Given the description of an element on the screen output the (x, y) to click on. 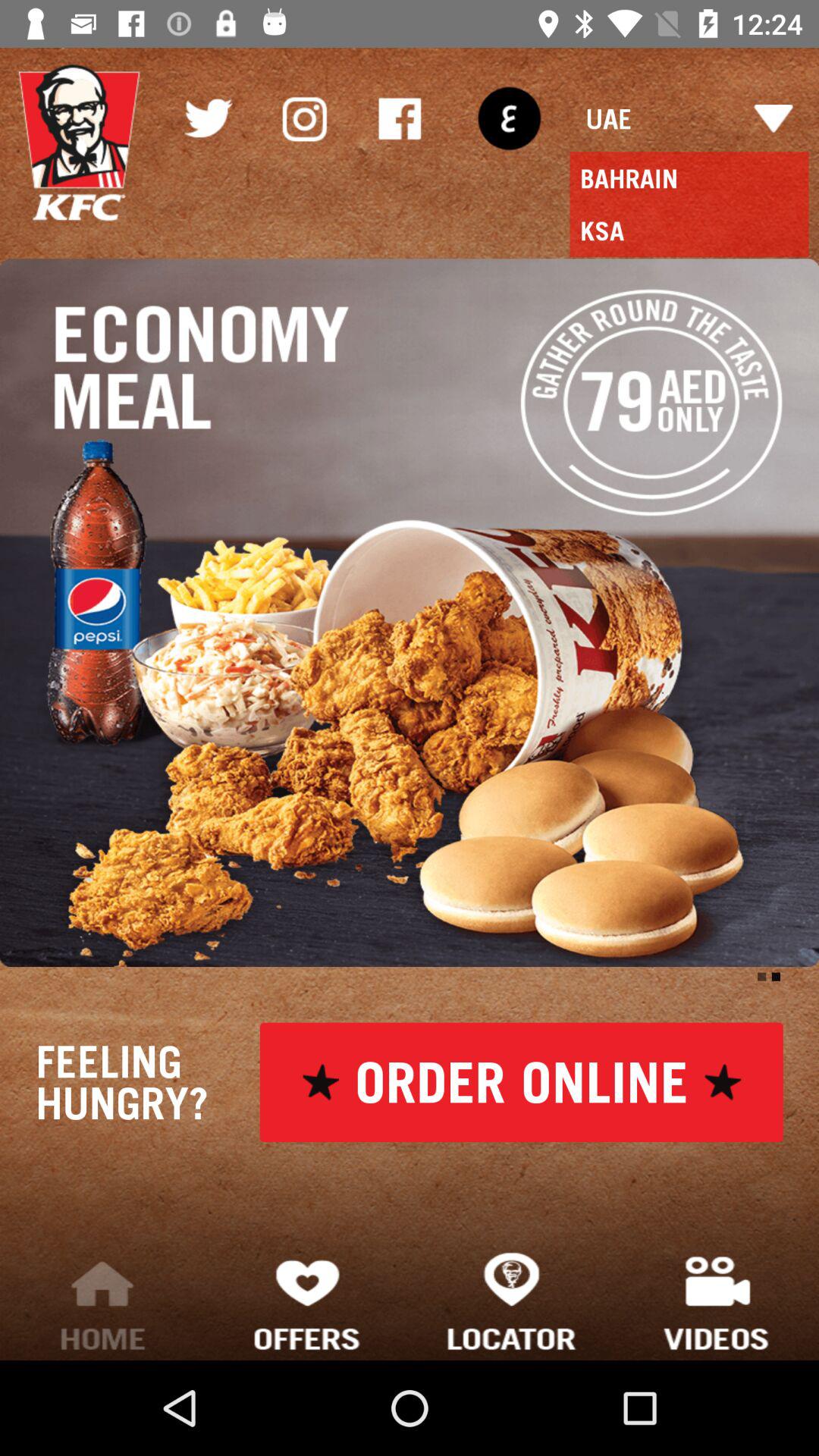
launch the item above the bahrain (688, 118)
